Given the description of an element on the screen output the (x, y) to click on. 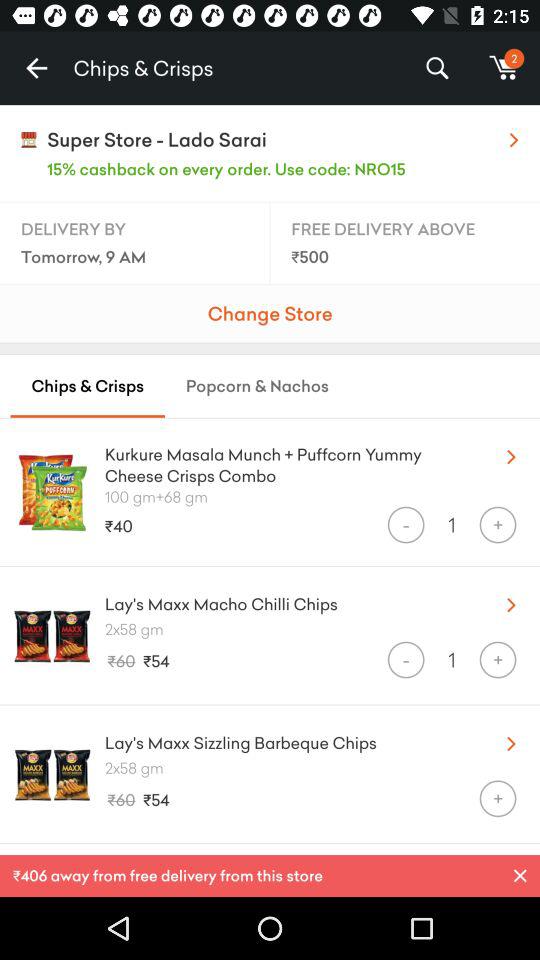
select the + icon (497, 798)
